Given the description of an element on the screen output the (x, y) to click on. 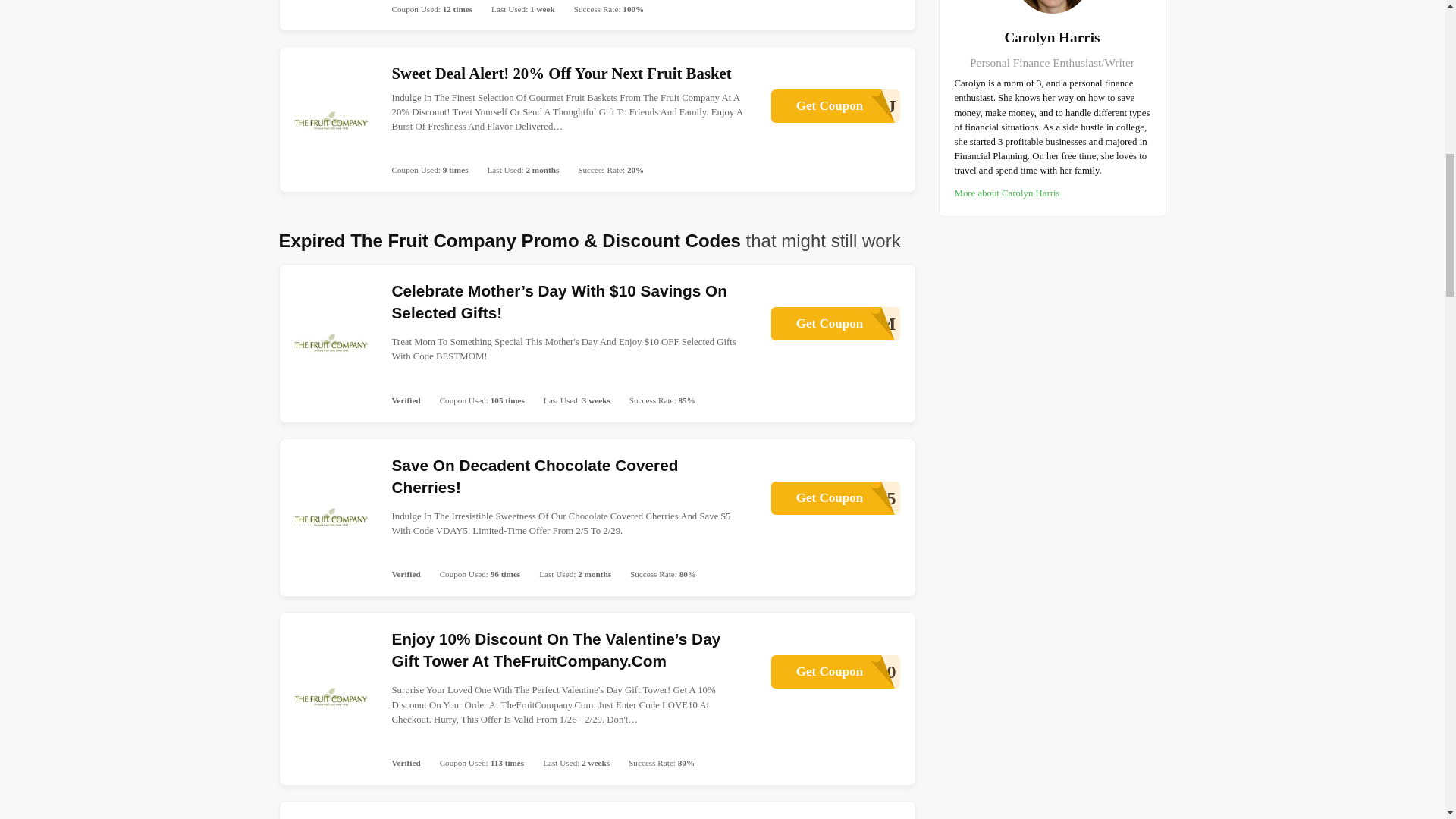
Read more (834, 498)
More about Carolyn Harris (1006, 193)
